Given the description of an element on the screen output the (x, y) to click on. 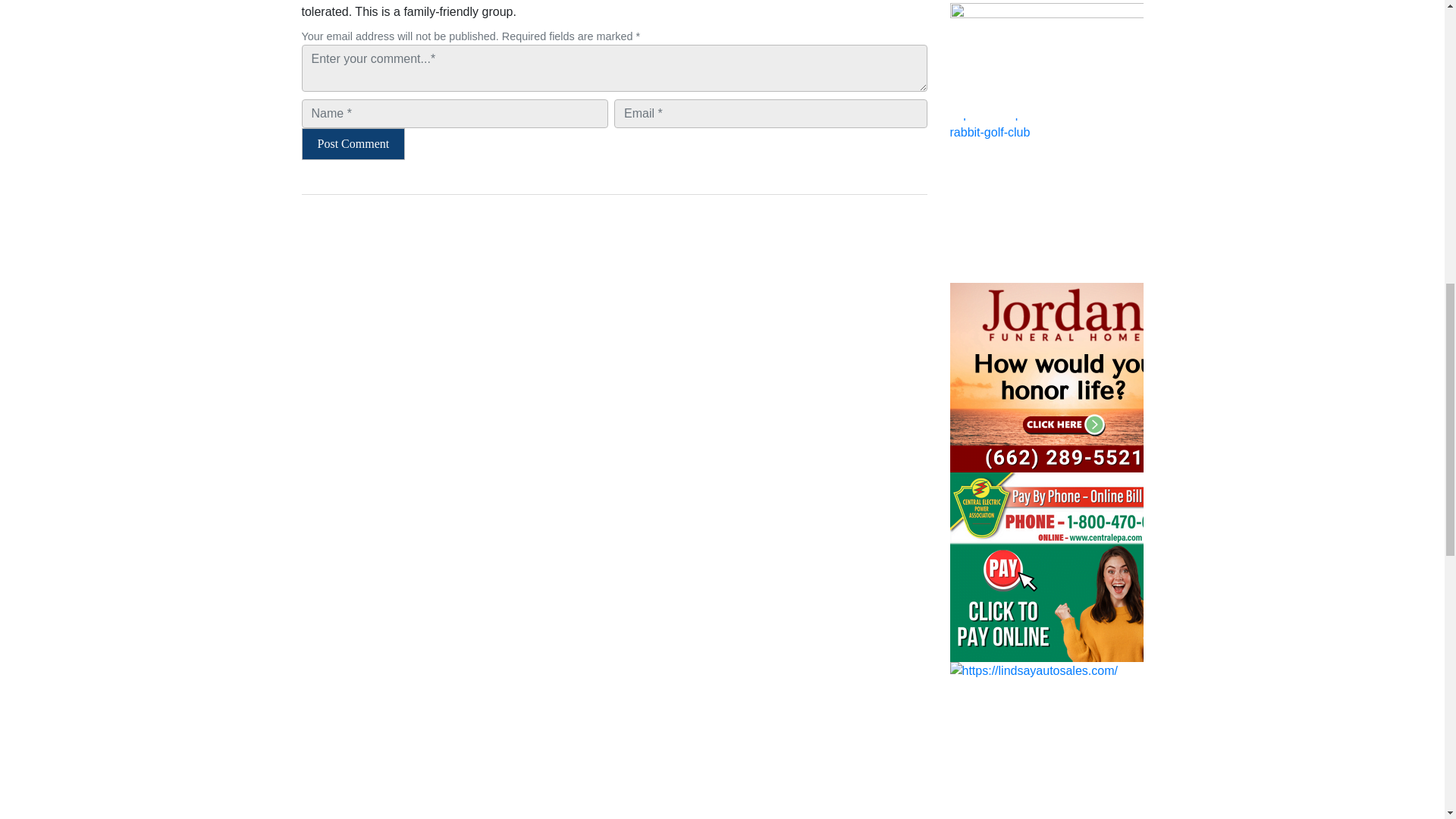
Post Comment (353, 143)
